Given the description of an element on the screen output the (x, y) to click on. 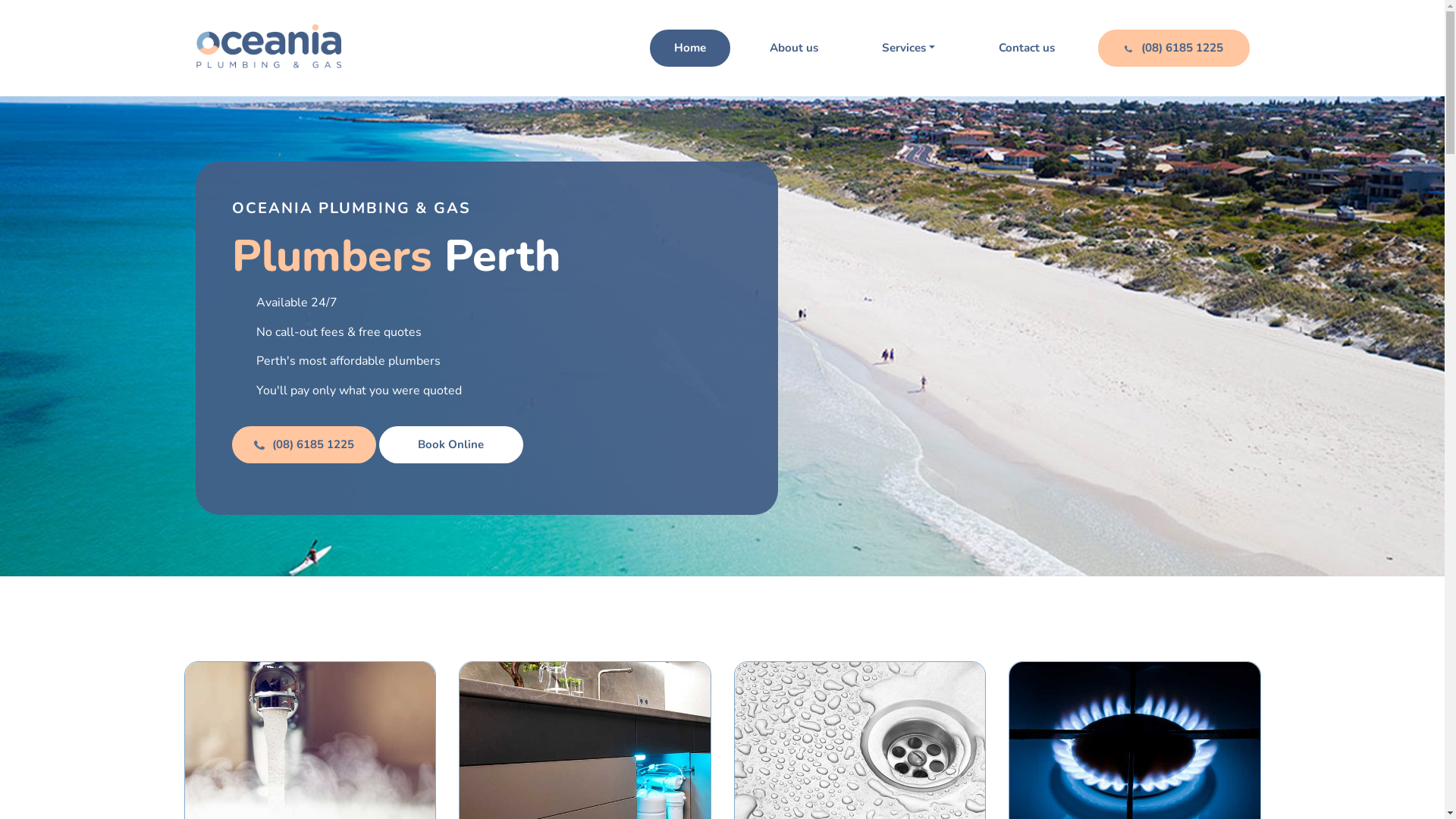
Contact us Element type: text (1025, 47)
(08) 6185 1225 Element type: text (1173, 47)
(08) 6185 1225 Element type: text (304, 444)
Book Online Element type: text (451, 444)
Services Element type: text (908, 47)
About us Element type: text (793, 47)
Home Element type: text (689, 47)
